Given the description of an element on the screen output the (x, y) to click on. 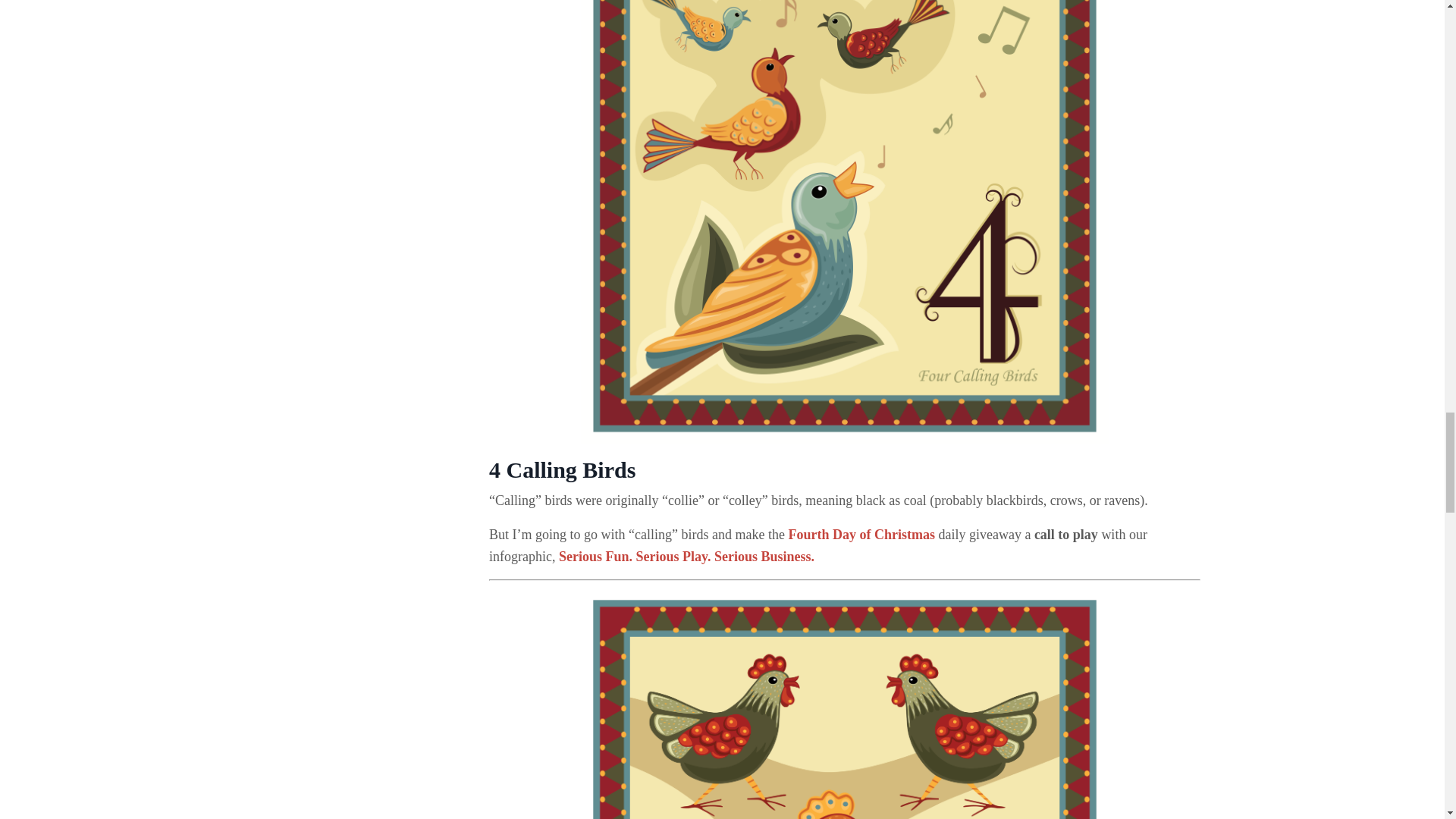
Fourth Day of Chirstmas (860, 534)
Serious Fun. Serious Play. Serious Business. (686, 556)
Fourth Day of Christmas (860, 534)
Serious Fun. Serious Play. Serious Business. (686, 556)
